Given the description of an element on the screen output the (x, y) to click on. 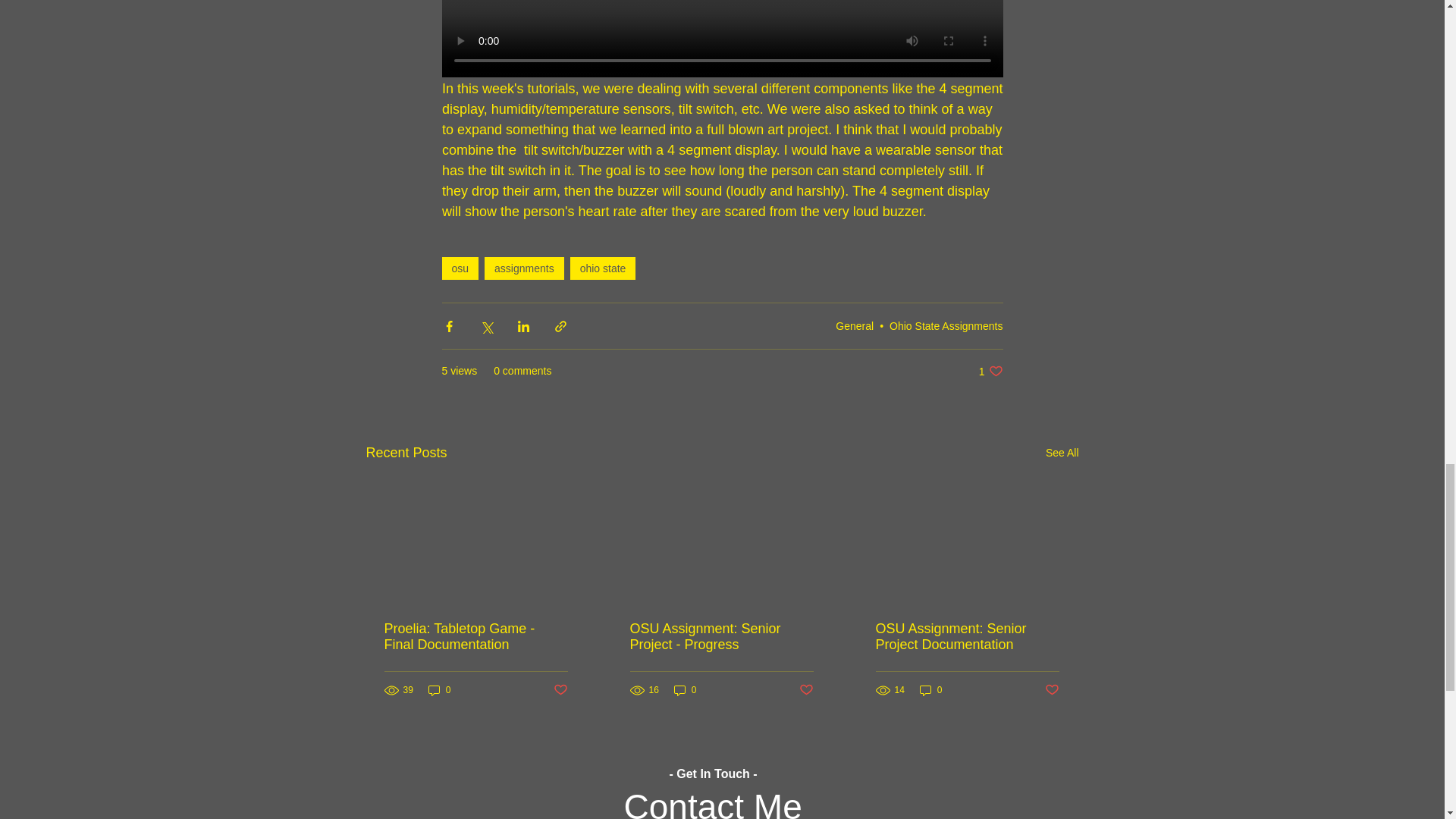
assignments (524, 268)
ohio state (603, 268)
osu (460, 268)
